Given the description of an element on the screen output the (x, y) to click on. 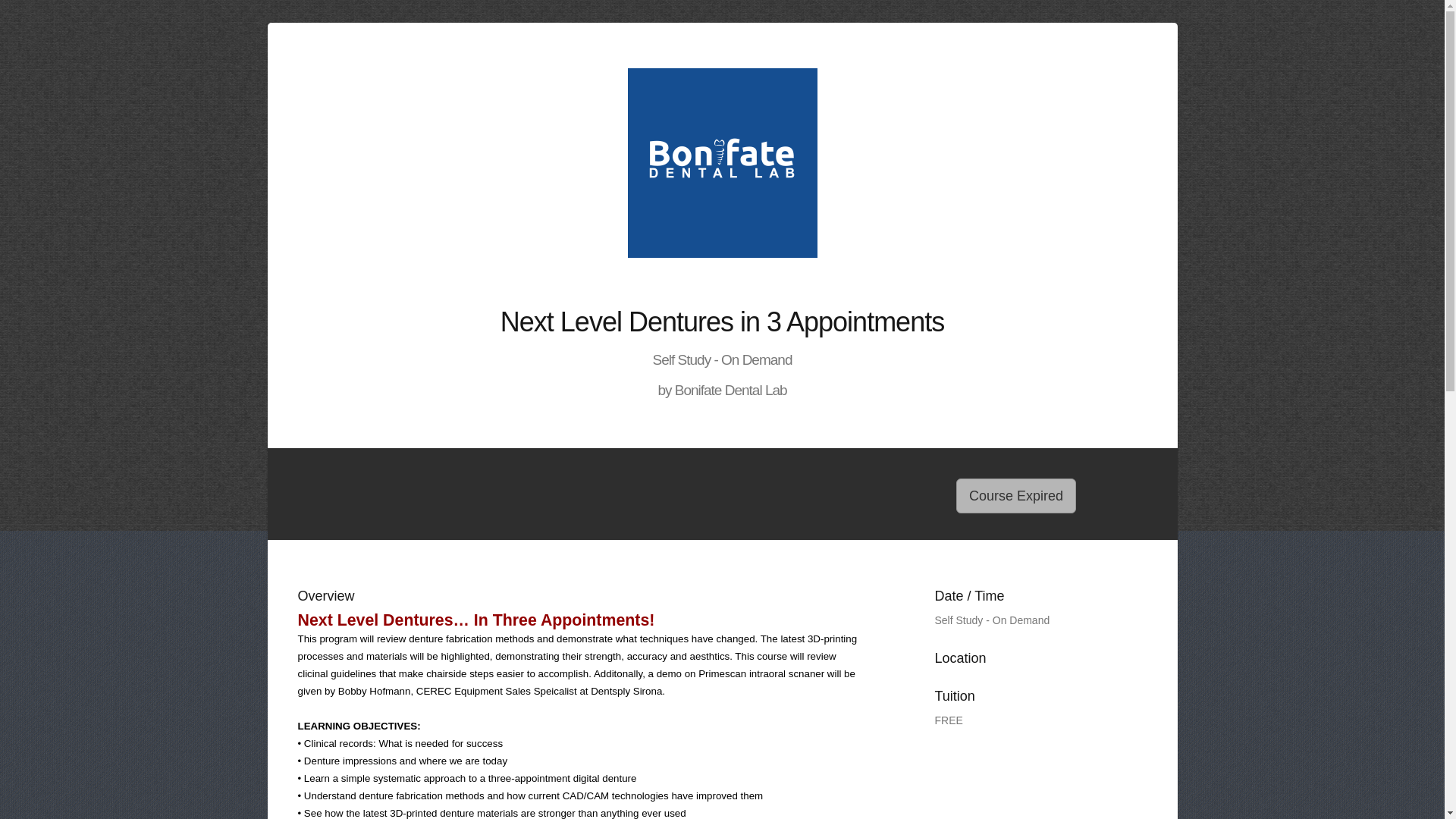
Course Expired (1015, 495)
